Given the description of an element on the screen output the (x, y) to click on. 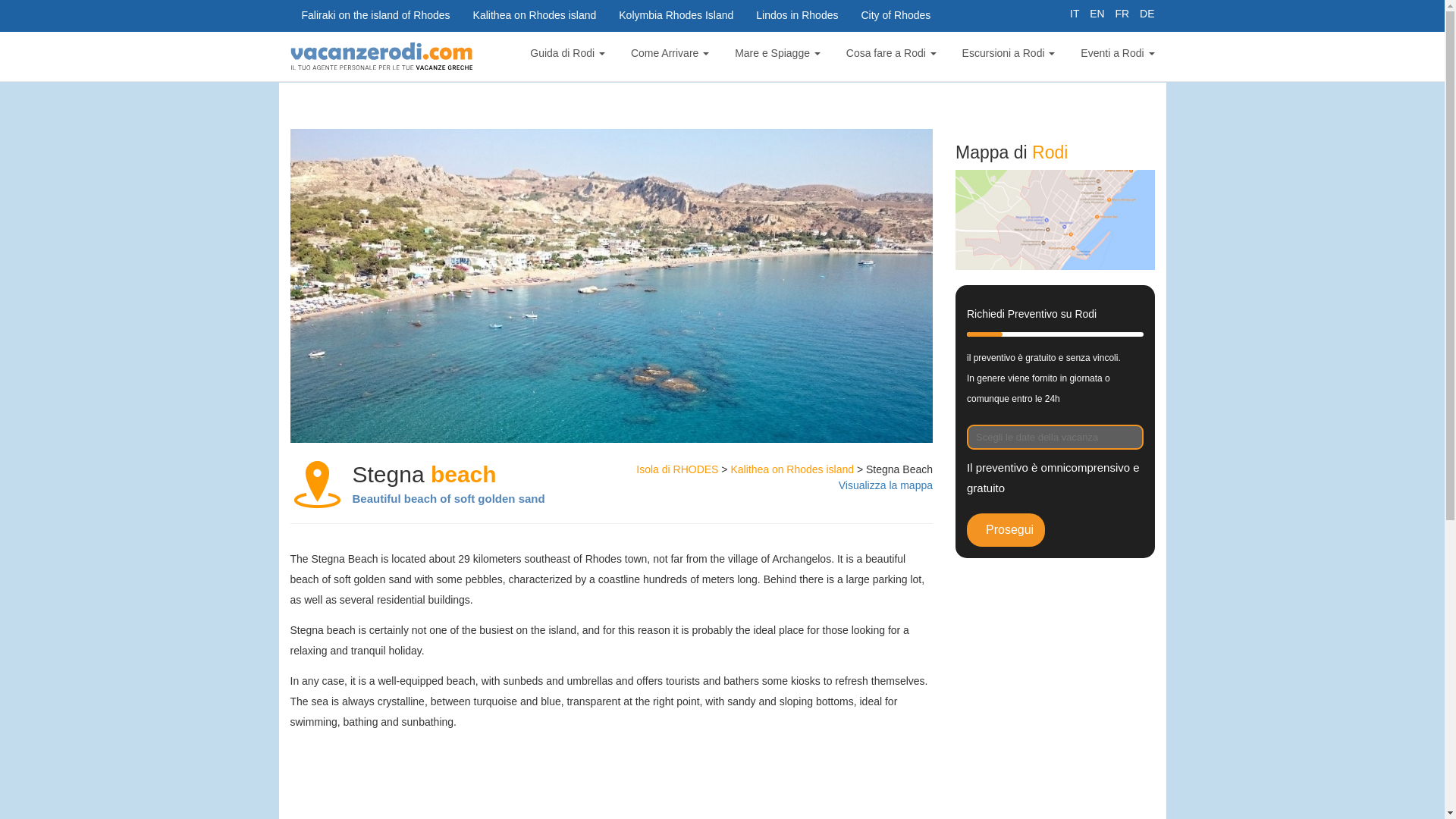
City of Rhodes (895, 15)
 Guida di Rodi (565, 51)
Faliraki on the island of Rhodes (375, 15)
EN (1093, 13)
Kalithea on Rhodes island (534, 15)
 Mare e Spiagge (775, 51)
Kolymbia Rhodes Island (675, 15)
bg-col-orange ion-android-sunny (775, 51)
Lindos in Rhodes (796, 15)
Faliraki on the island of Rhodes (375, 15)
 Cosa fare a Rodi (889, 51)
 Come Arrivare (667, 51)
IT (1071, 13)
Kalithea on Rhodes island (534, 15)
DE (1143, 13)
